Given the description of an element on the screen output the (x, y) to click on. 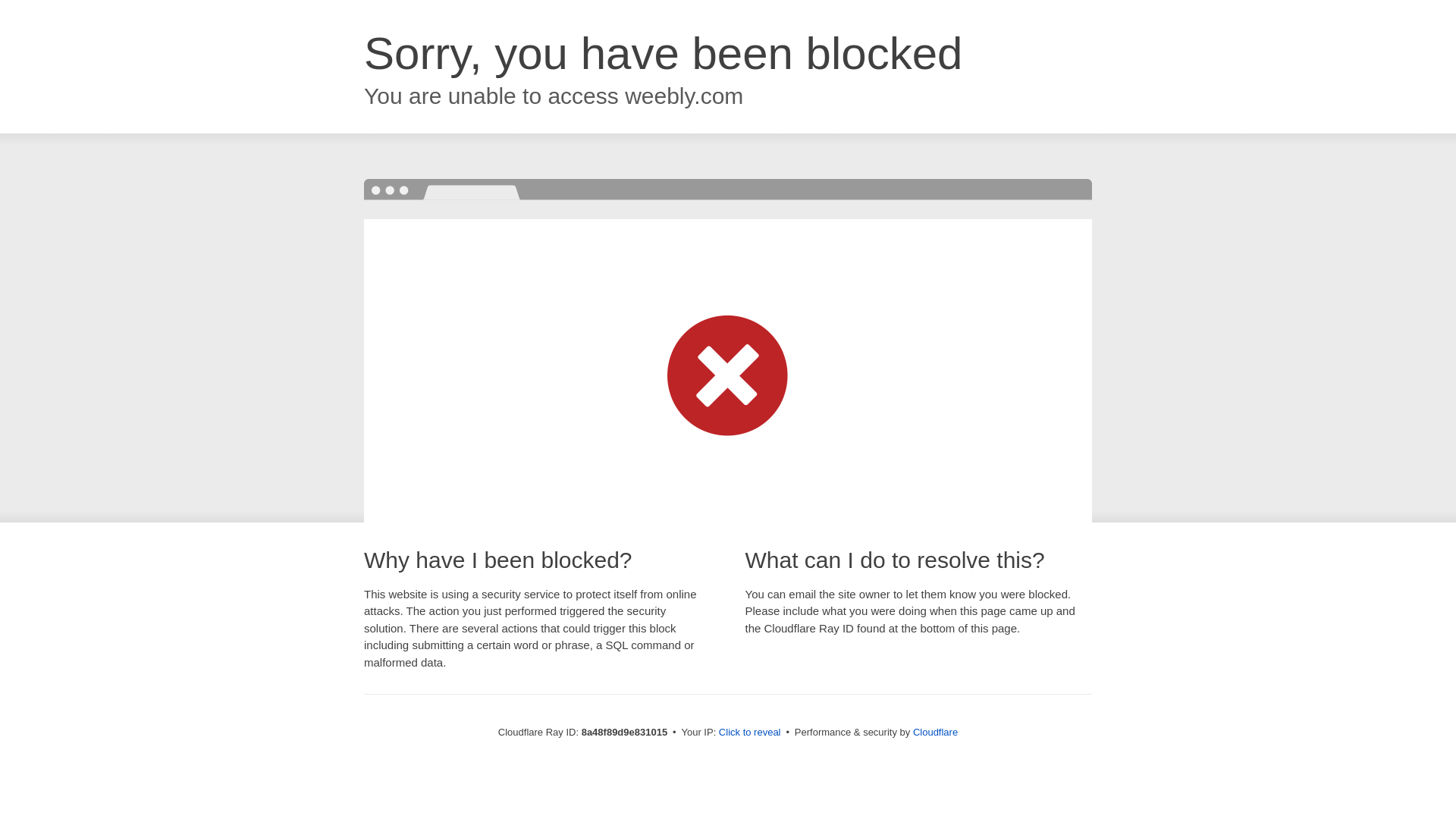
Click to reveal (749, 732)
Cloudflare (935, 731)
